Given the description of an element on the screen output the (x, y) to click on. 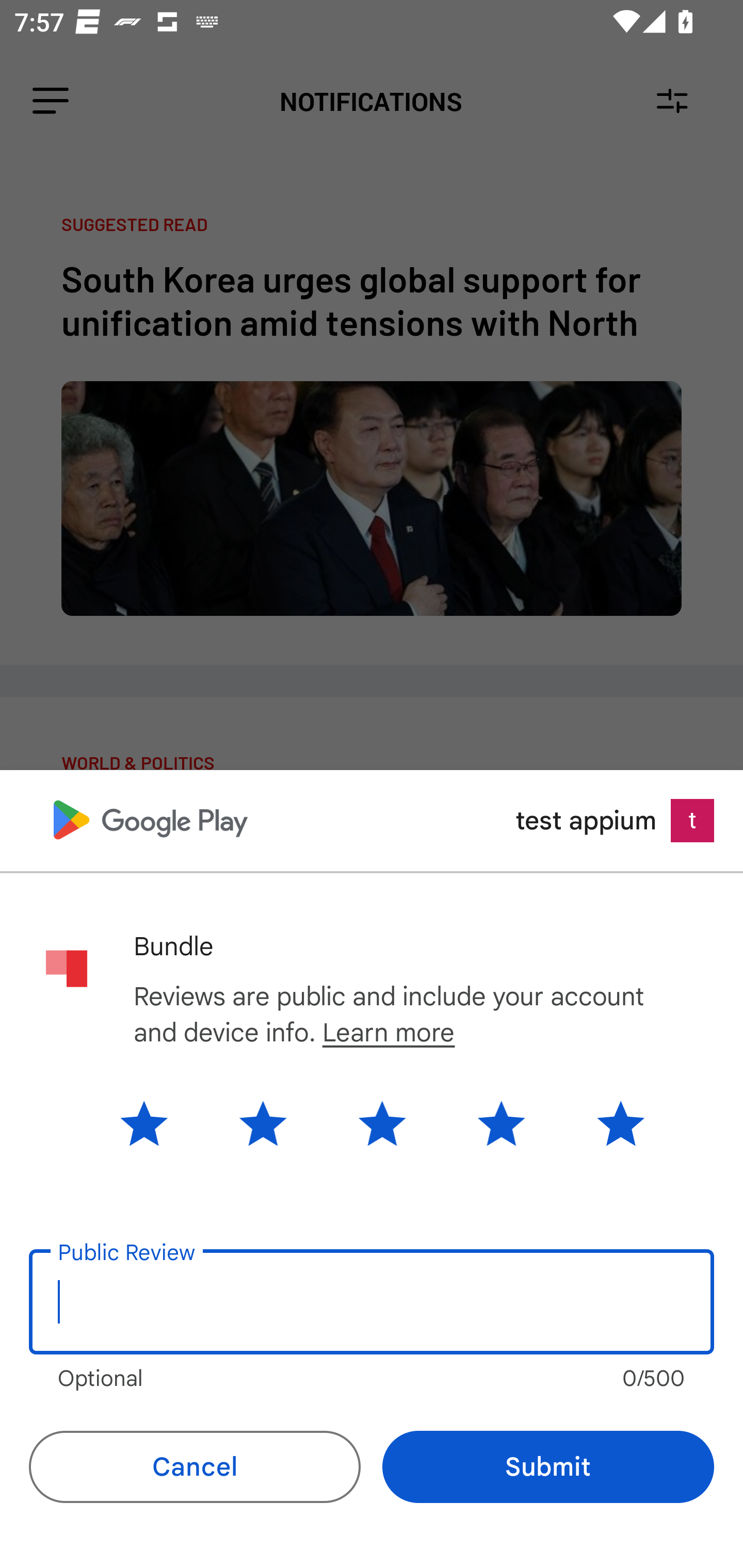
First star selected (159, 1123)
Second star selected (262, 1123)
Third star selected (381, 1123)
Fourth star selected (500, 1123)
Fifth star selected (604, 1123)
Public Review (371, 1301)
Cancel (194, 1466)
Submit (548, 1466)
